Given the description of an element on the screen output the (x, y) to click on. 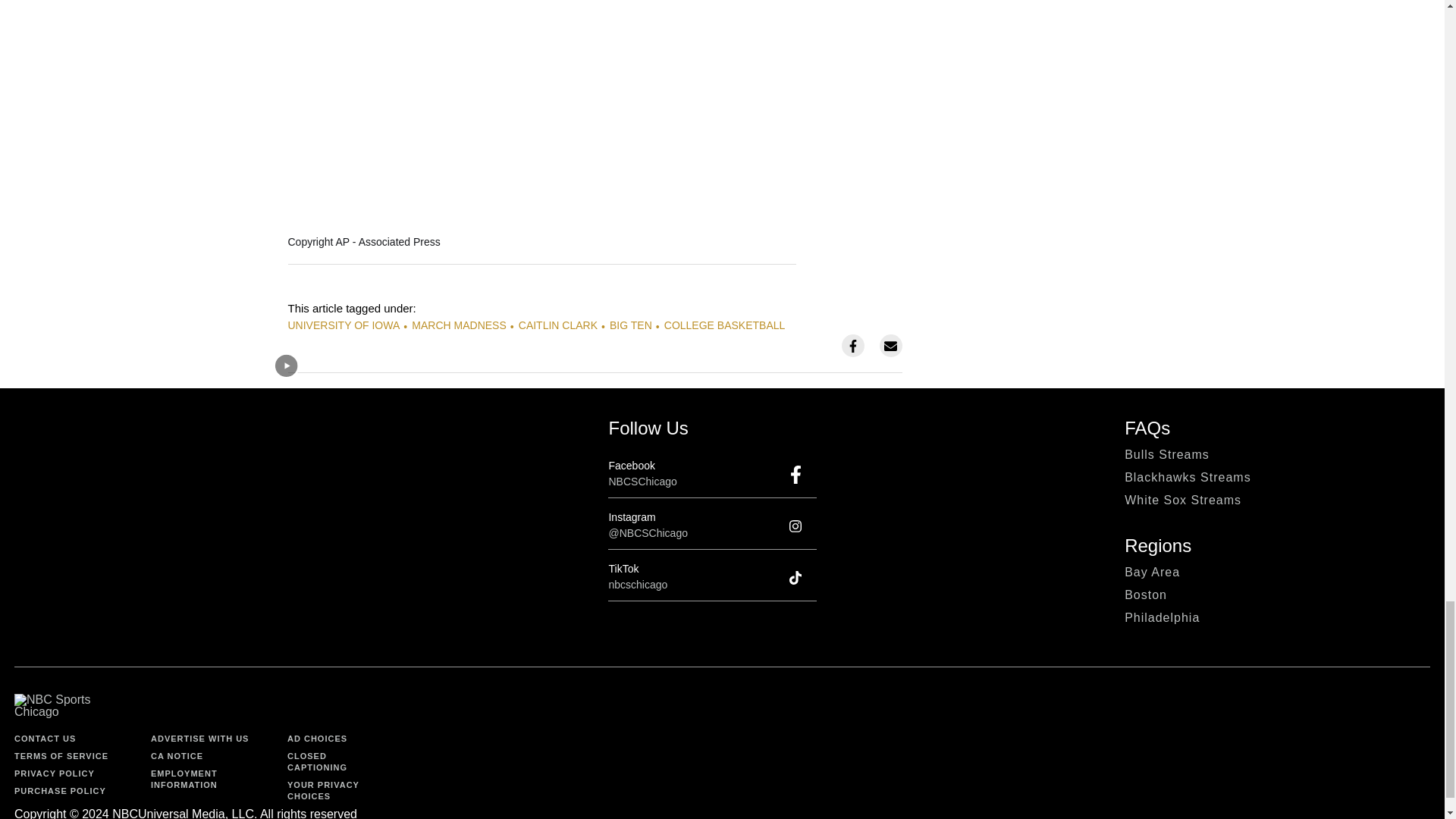
UNIVERSITY OF IOWA (344, 325)
COLLEGE BASKETBALL (724, 325)
MARCH MADNESS (458, 325)
CAITLIN CLARK (557, 325)
BIG TEN (631, 325)
